Given the description of an element on the screen output the (x, y) to click on. 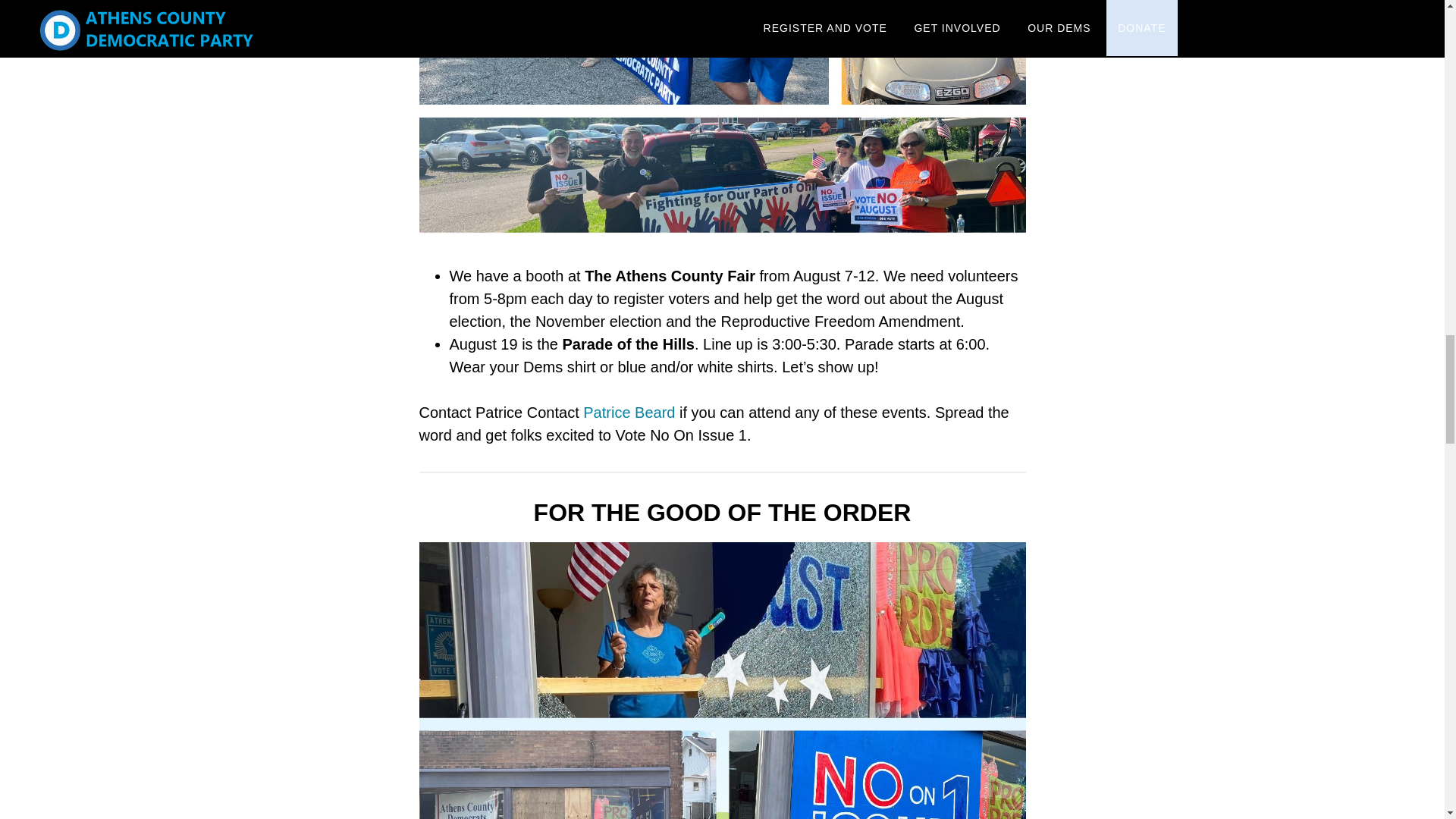
Patrice Beard (629, 412)
